Given the description of an element on the screen output the (x, y) to click on. 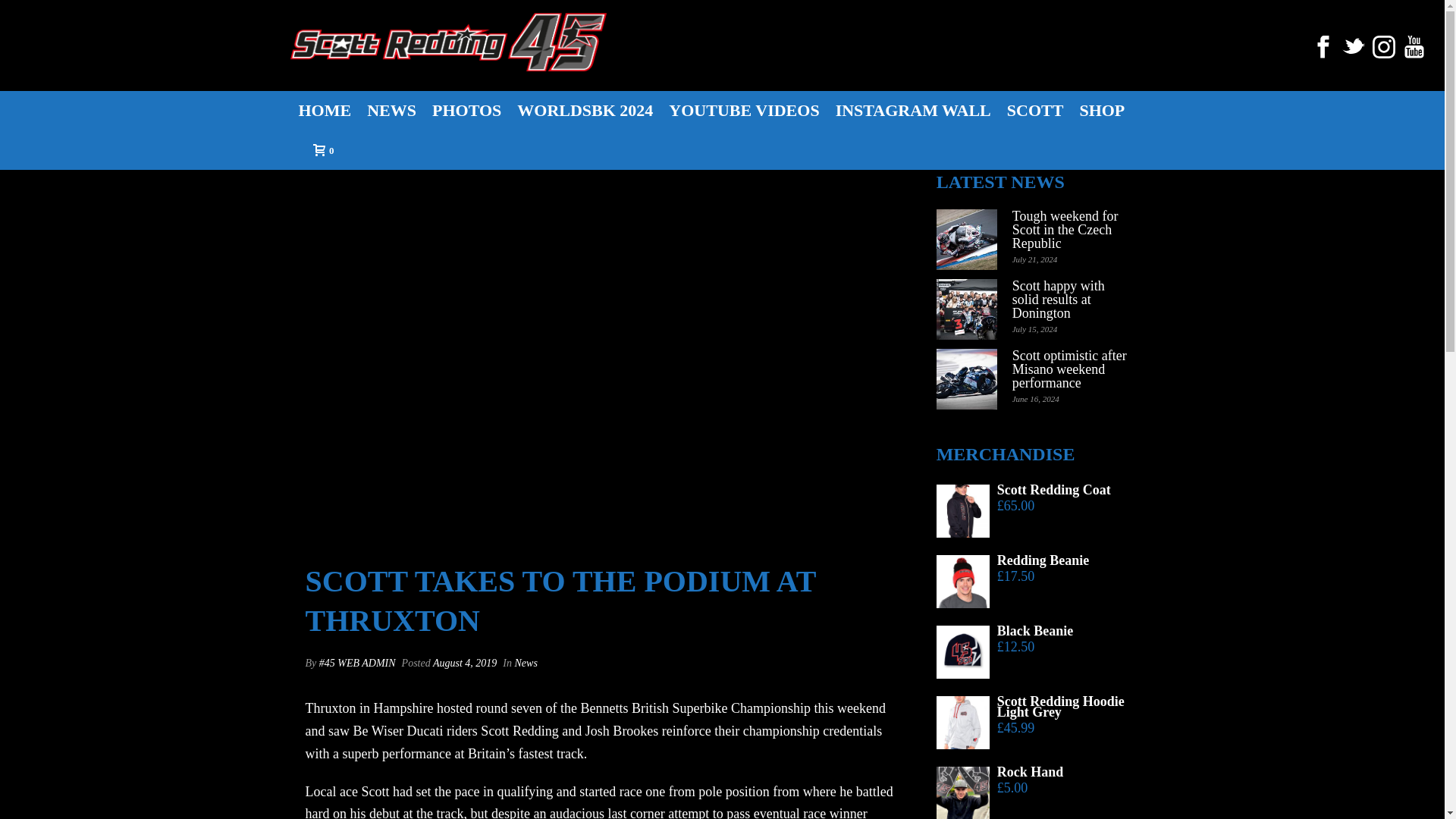
Scott Redding Coat (1038, 489)
YOUTUBE VIDEOS (744, 109)
August 4, 2019 (464, 663)
PHOTOS (466, 109)
WORLDSBK 2024 (585, 109)
SHOP (1101, 109)
NEWS (391, 109)
0 (318, 149)
HOME (325, 109)
Tough weekend for Scott in the Czech Republic (1071, 229)
HOME (325, 109)
SCOTT (1034, 109)
News (526, 663)
INSTAGRAM WALL (913, 109)
SHOP (1101, 109)
